Given the description of an element on the screen output the (x, y) to click on. 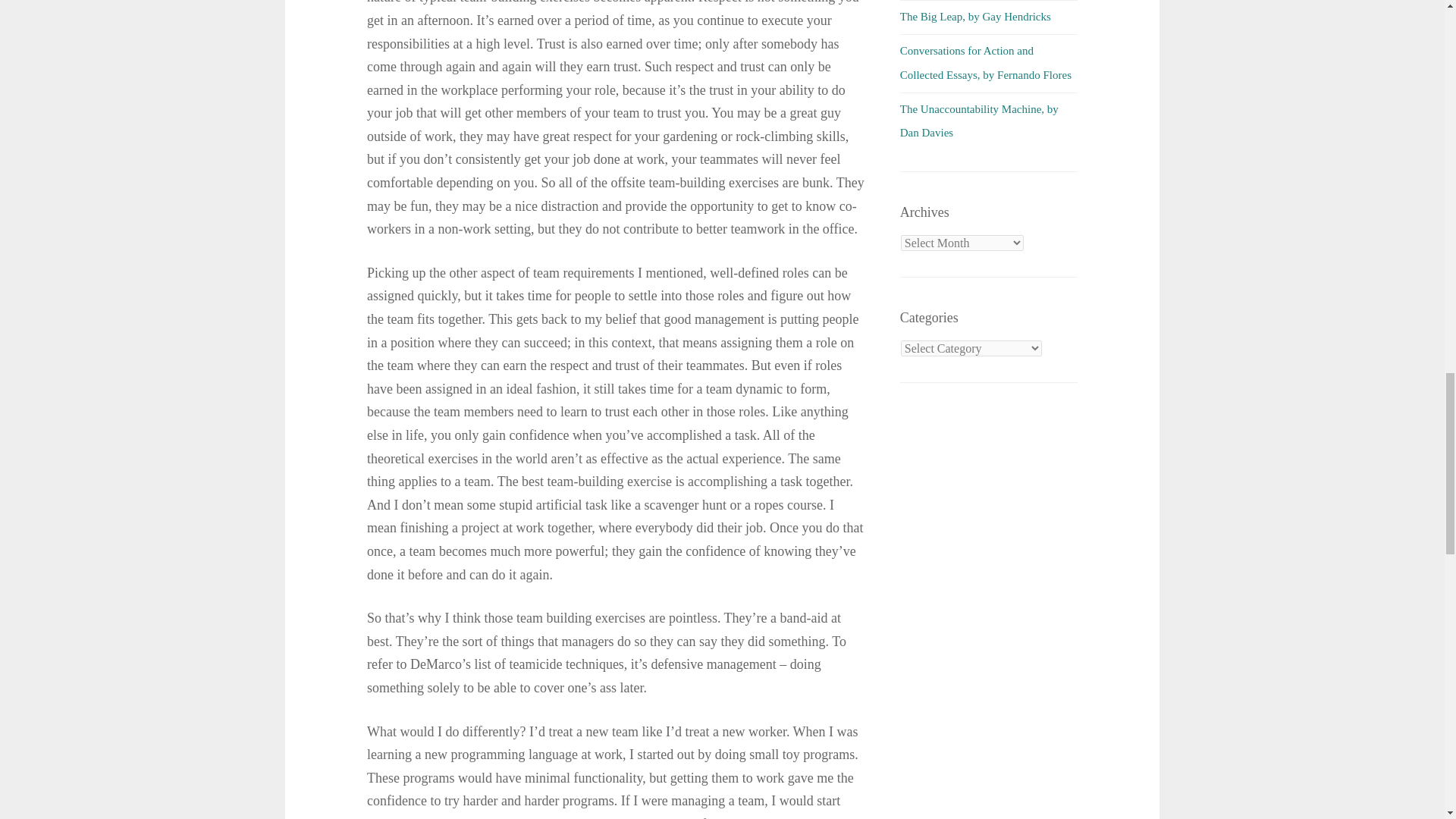
The Big Leap, by Gay Hendricks (975, 16)
The Unaccountability Machine, by Dan Davies (978, 120)
